Given the description of an element on the screen output the (x, y) to click on. 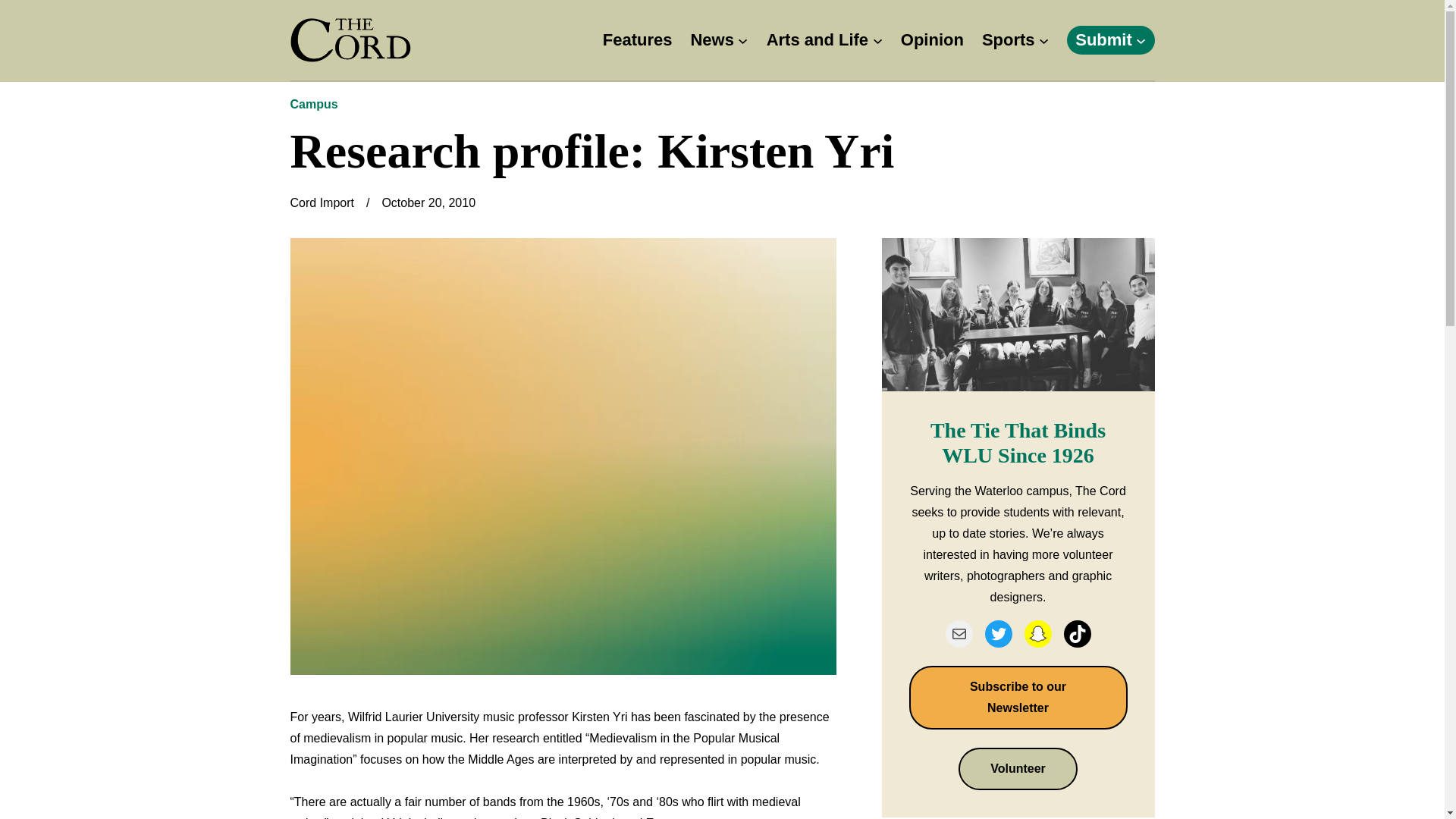
Volunteer (1017, 768)
Features (637, 40)
Arts and Life (817, 40)
Subscribe to our Newsletter (1017, 697)
Campus (313, 103)
Sports (1008, 40)
Submit (1103, 40)
News (711, 40)
Opinion (932, 40)
Mail (958, 633)
